Given the description of an element on the screen output the (x, y) to click on. 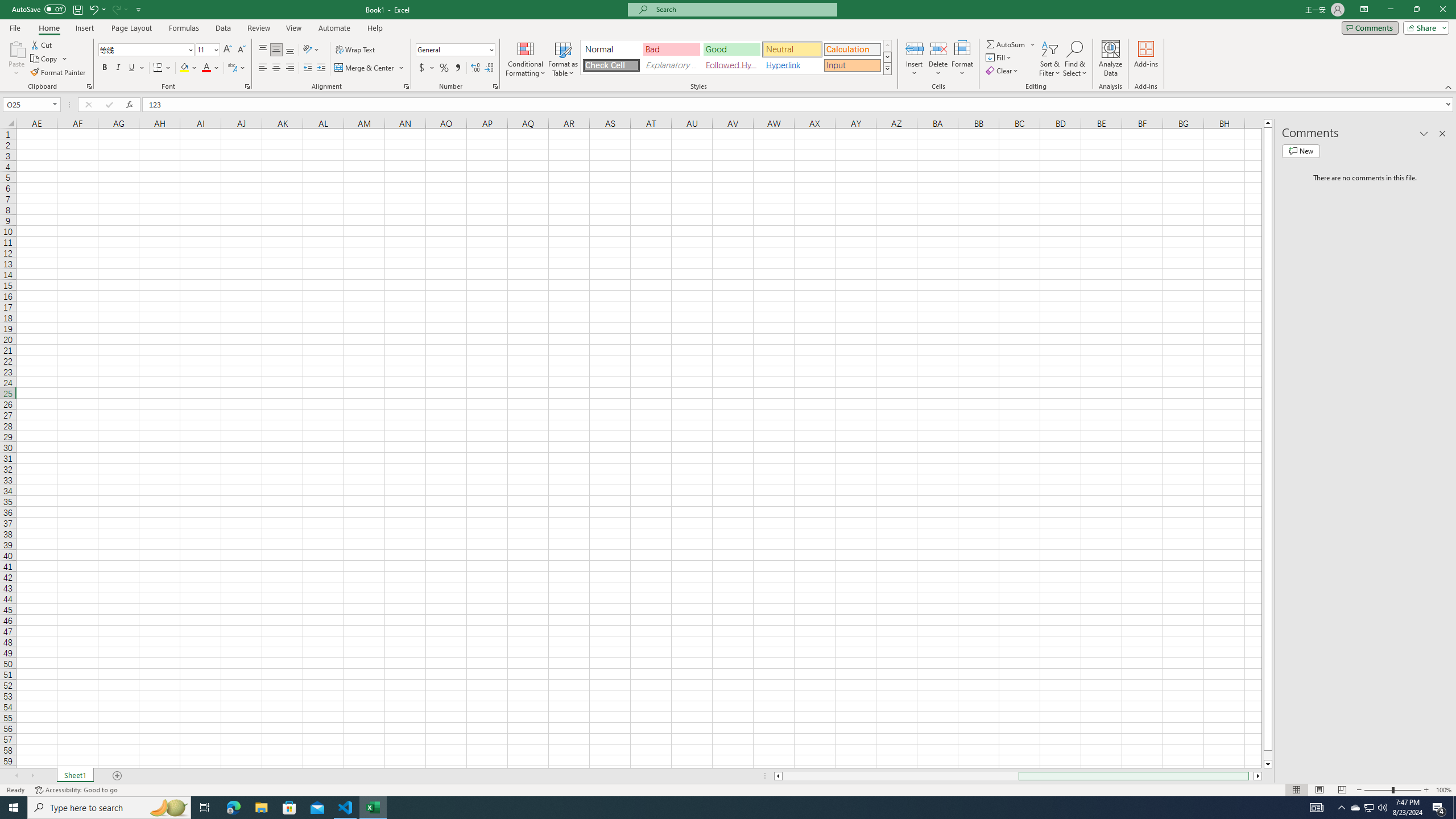
Increase Font Size (227, 49)
Underline (136, 67)
Accounting Number Format (422, 67)
Number Format (451, 49)
Middle Align (276, 49)
Delete Cells... (938, 48)
